Given the description of an element on the screen output the (x, y) to click on. 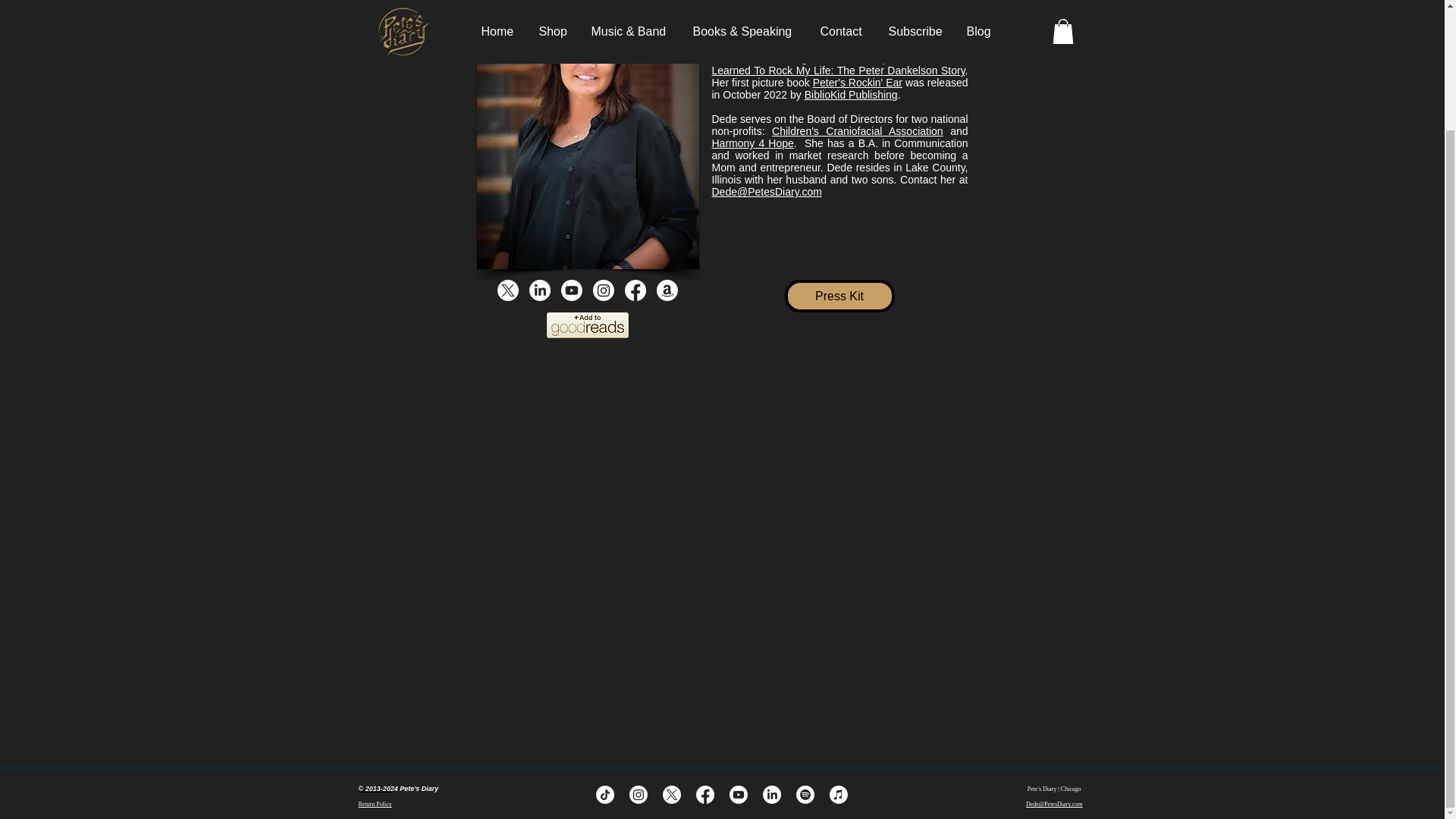
BiblioKid Publishing (851, 94)
Press Kit (838, 296)
Peter's Rockin' Ear (857, 82)
Harmony 4 Hope (752, 143)
Return Policy (374, 803)
Peter Dankelson (750, 2)
How I Learned To Rock My Life: The Peter Dankelson Story (839, 64)
Children's Craniofacial Association (857, 131)
Privacy Policy (375, 788)
